Given the description of an element on the screen output the (x, y) to click on. 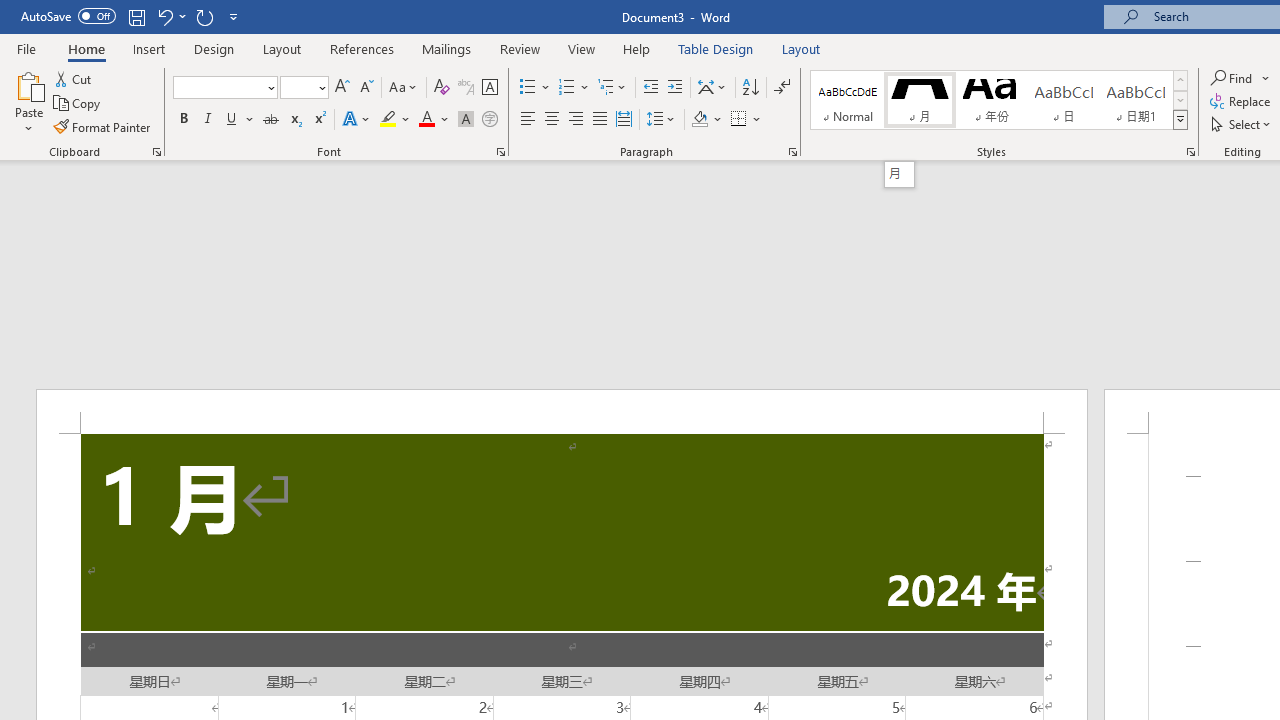
Row up (1179, 79)
Grow Font (342, 87)
Multilevel List (613, 87)
Bold (183, 119)
Font Color (434, 119)
Align Right (575, 119)
Increase Indent (675, 87)
